Given the description of an element on the screen output the (x, y) to click on. 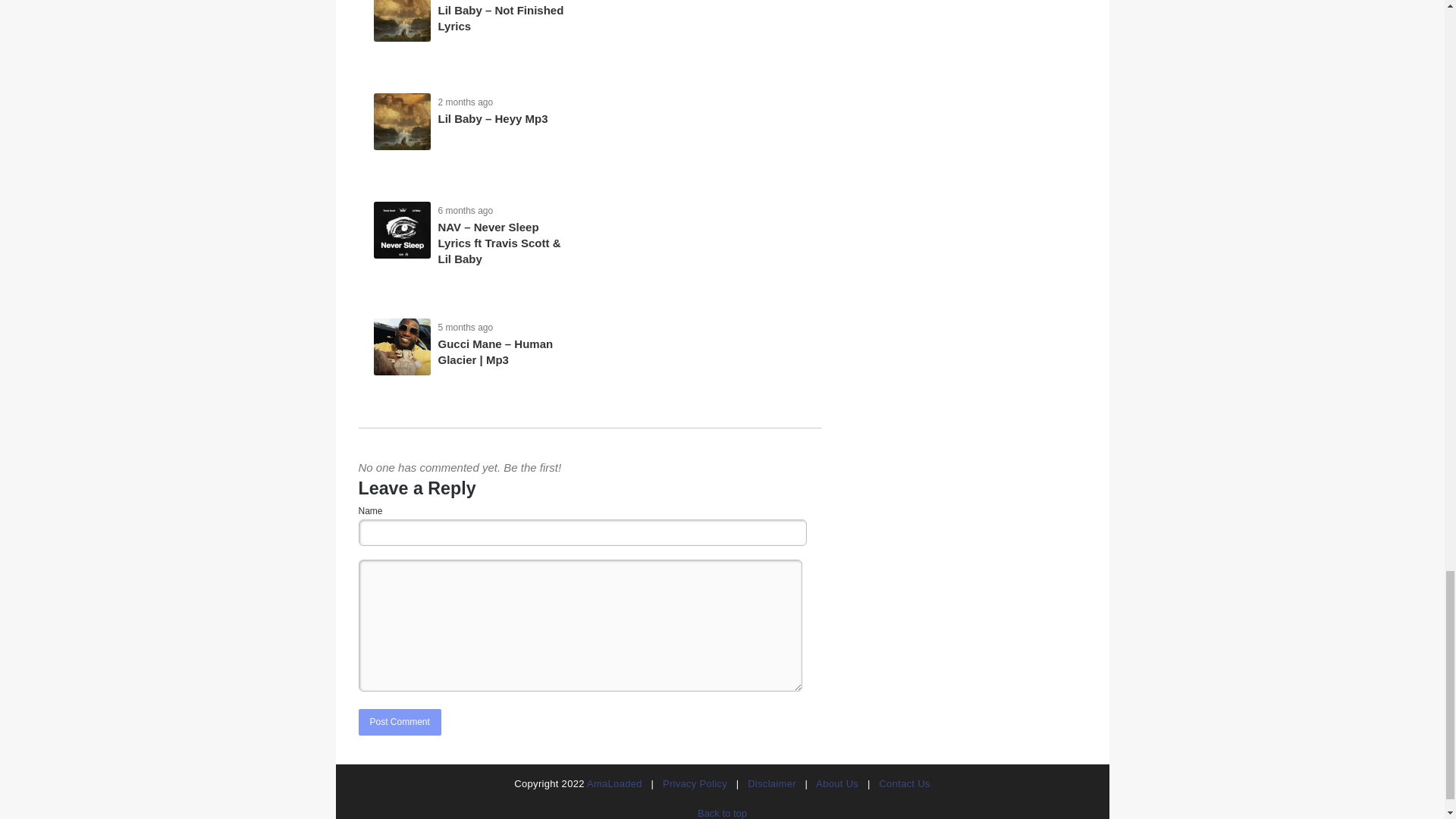
Post Comment (399, 722)
Post Comment (399, 722)
